Given the description of an element on the screen output the (x, y) to click on. 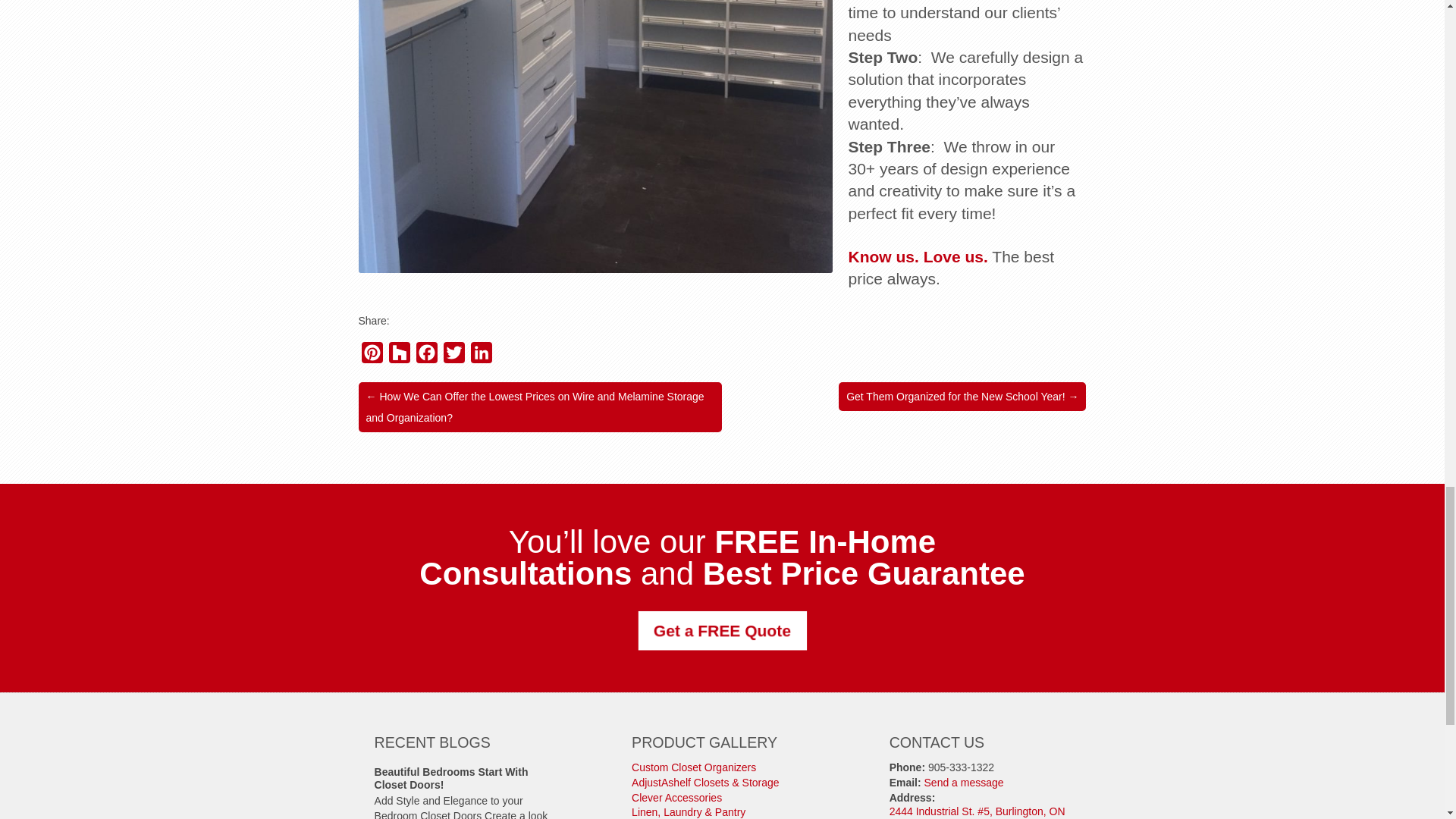
Get a FREE Quote (718, 629)
Know us. Love us. (917, 256)
Custom Closet Organizers (693, 767)
Twitter (453, 356)
Pinterest (371, 356)
Twitter (453, 356)
Facebook (425, 356)
Send a message (964, 782)
LinkedIn (481, 356)
Clever Accessories (676, 797)
Houzz (398, 356)
Facebook (425, 356)
Houzz (398, 356)
Pinterest (371, 356)
